Given the description of an element on the screen output the (x, y) to click on. 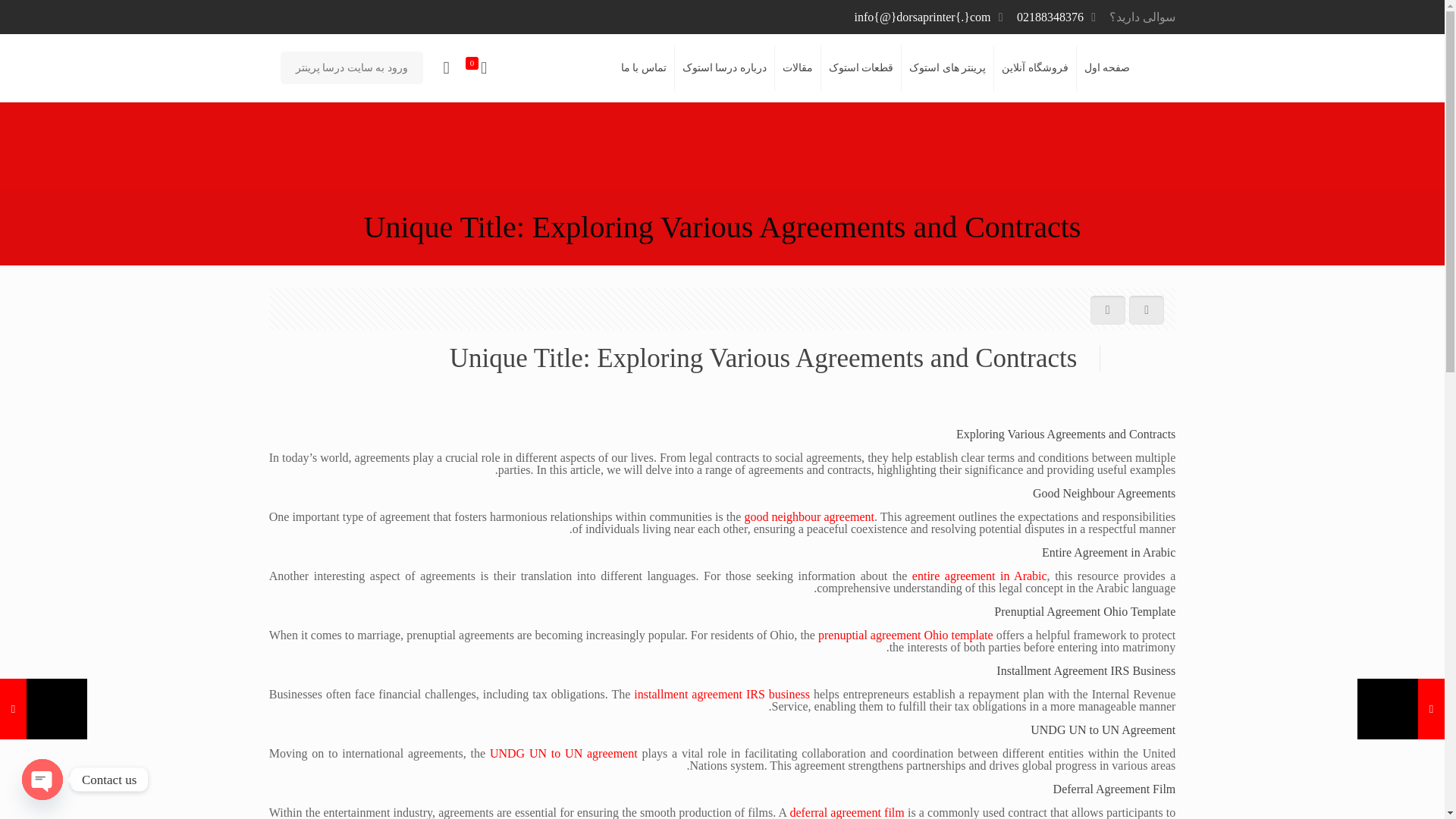
02188348376 (1049, 16)
prenuptial agreement Ohio template (905, 634)
UNDG UN to UN agreement (563, 753)
0 (478, 67)
installment agreement IRS business (721, 694)
good neighbour agreement (809, 516)
entire agreement in Arabic (979, 575)
deferral agreement film (846, 812)
